Given the description of an element on the screen output the (x, y) to click on. 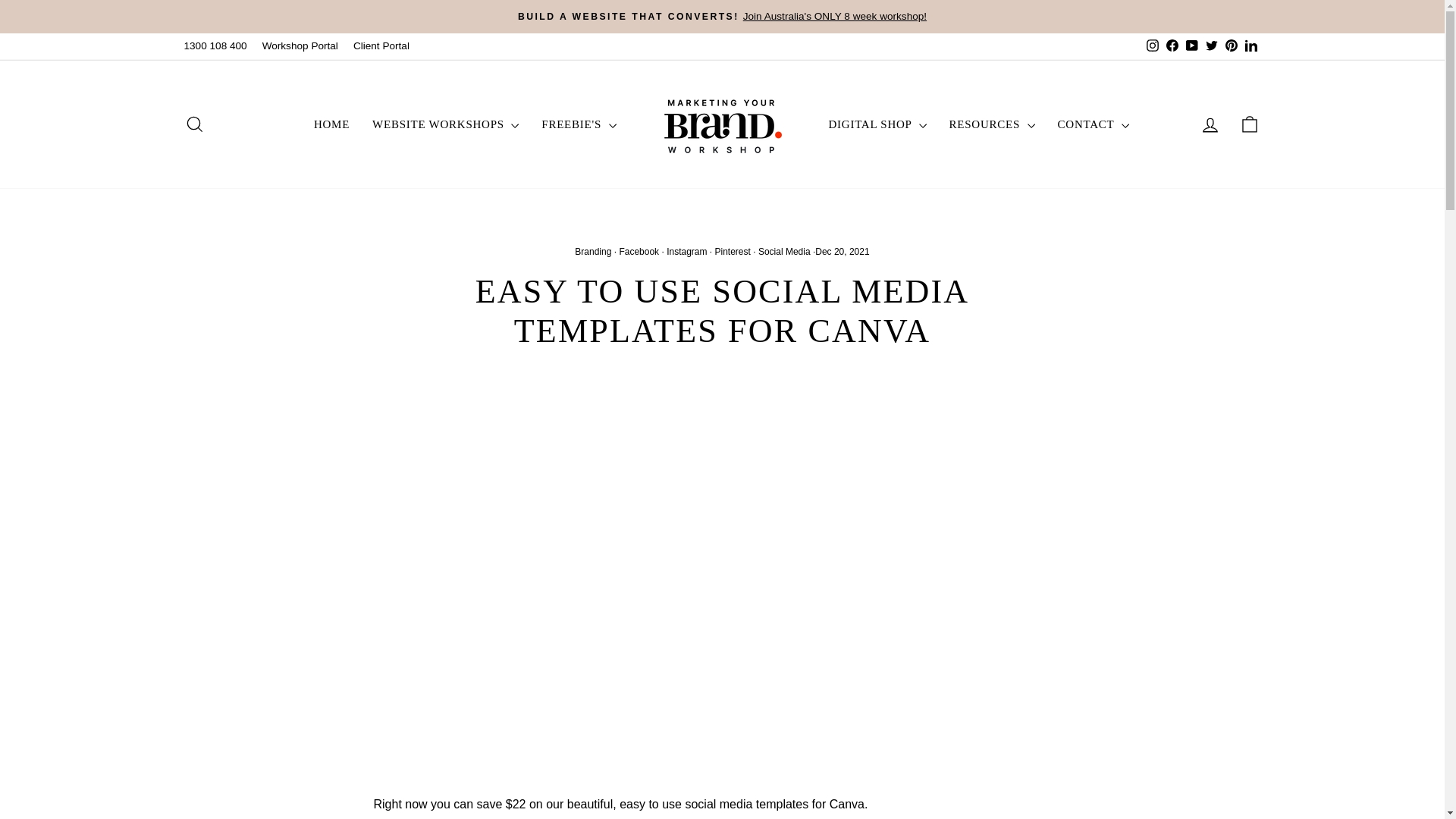
twitter (1211, 45)
instagram (1152, 45)
ICON-BAG-MINIMAL (1249, 124)
ACCOUNT (1210, 124)
ICON-SEARCH (194, 124)
